Given the description of an element on the screen output the (x, y) to click on. 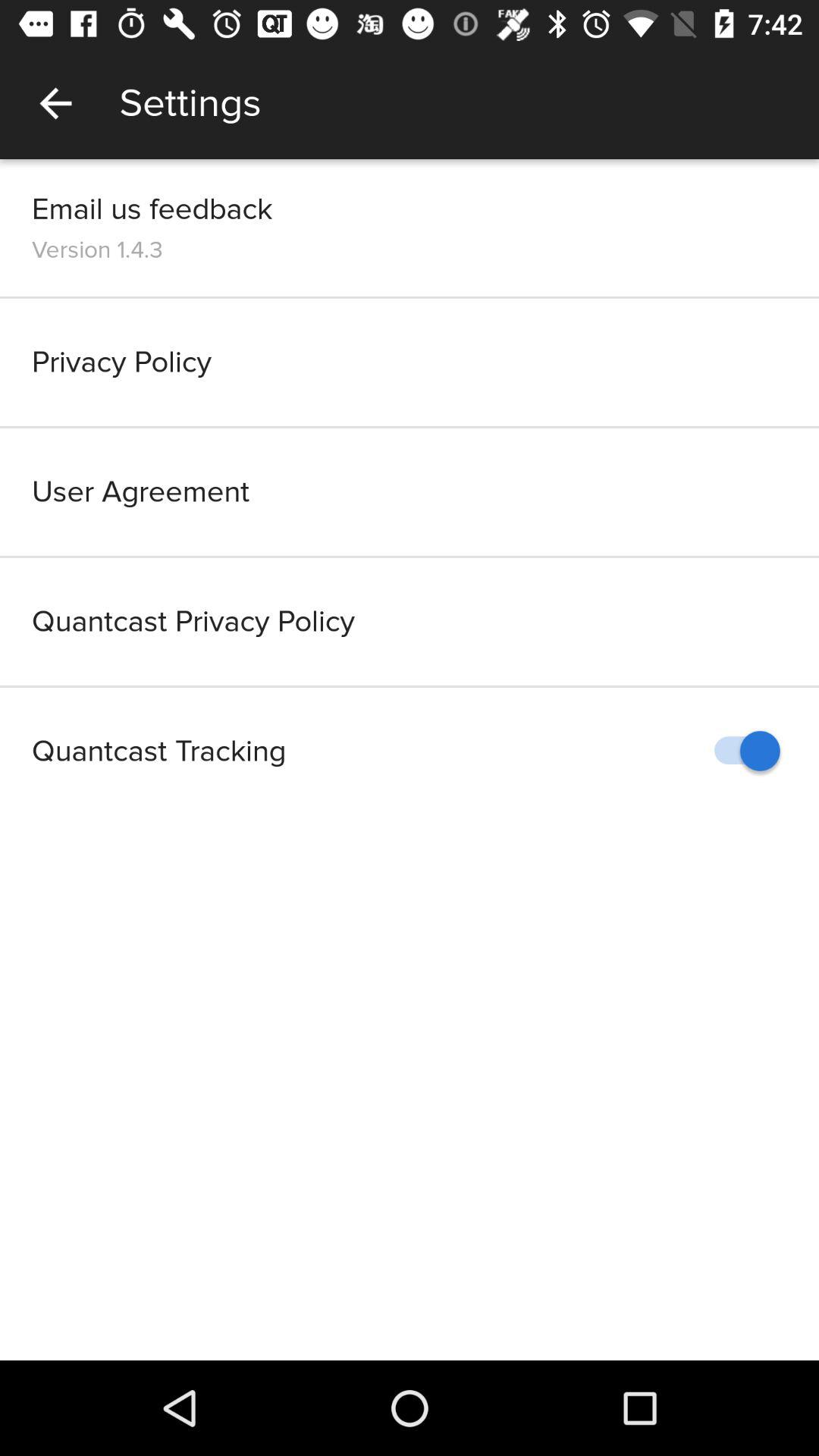
jump until the version 1 4 (96, 249)
